Given the description of an element on the screen output the (x, y) to click on. 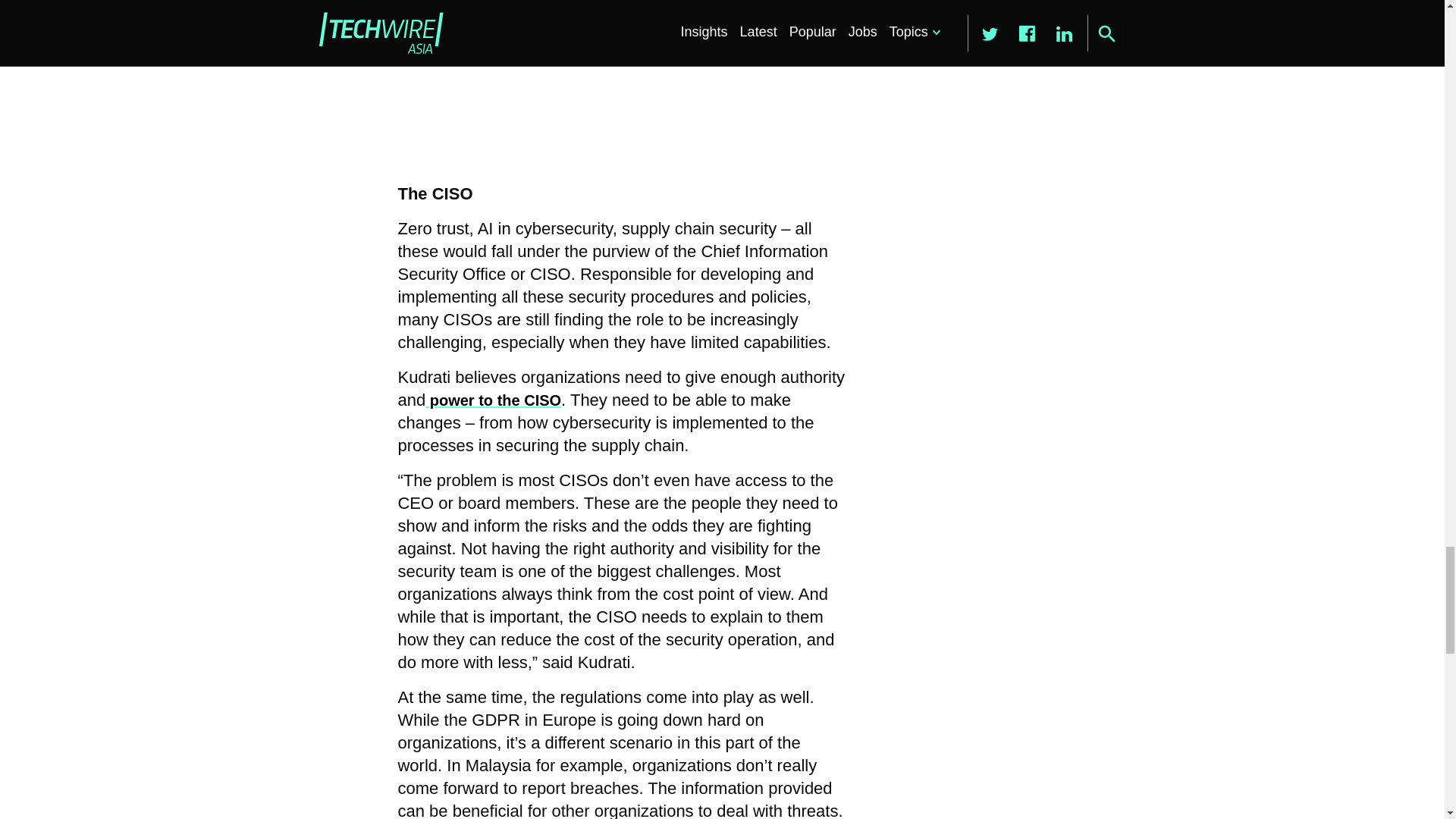
YouTube video player (609, 82)
